Given the description of an element on the screen output the (x, y) to click on. 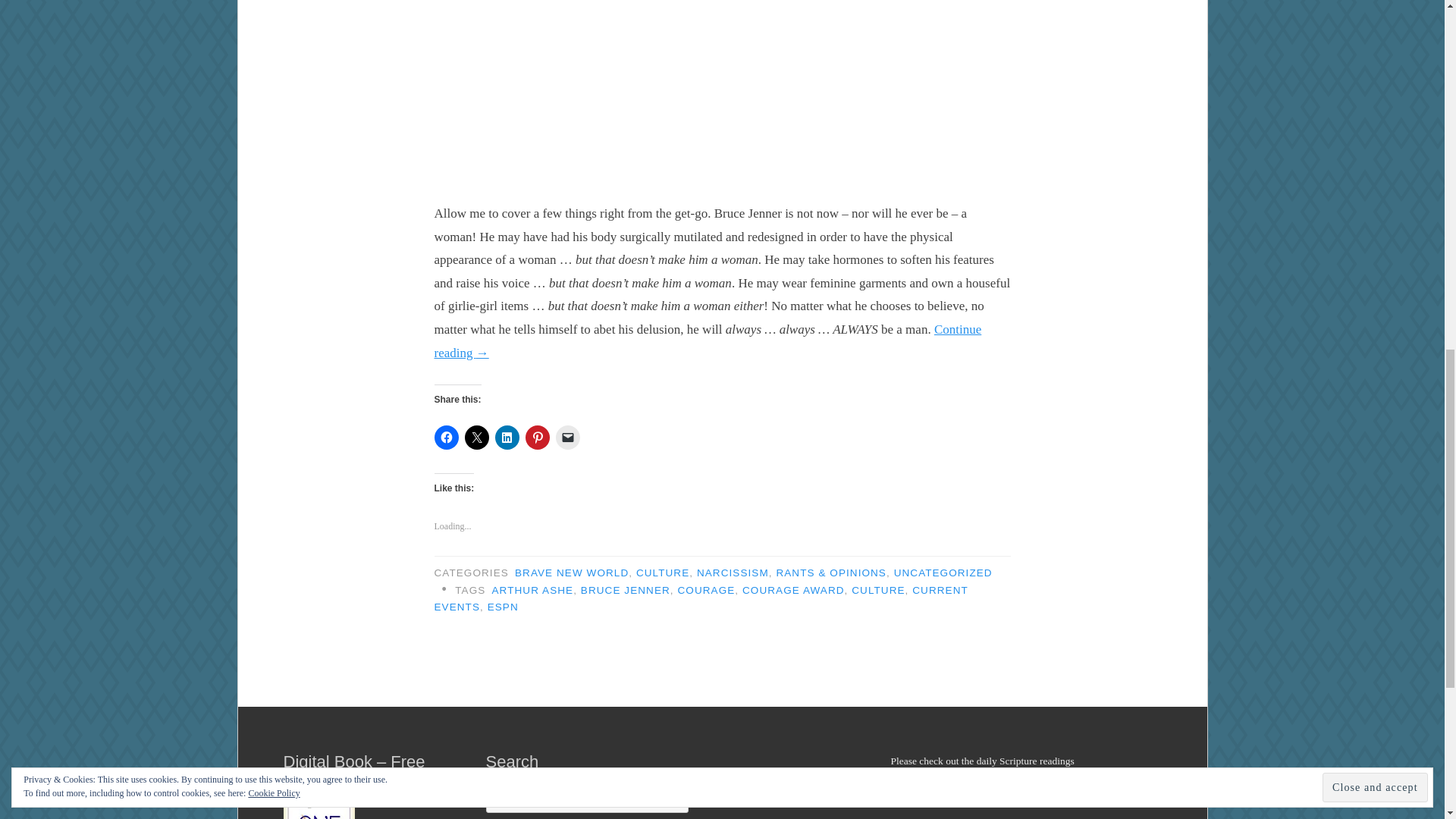
Click to email a link to a friend (566, 437)
Click to share on Pinterest (536, 437)
Search (665, 797)
Search (665, 797)
Digital Book - Free (319, 800)
Click to share on LinkedIn (506, 437)
Click to share on Facebook (445, 437)
Click to share on X (475, 437)
